Given the description of an element on the screen output the (x, y) to click on. 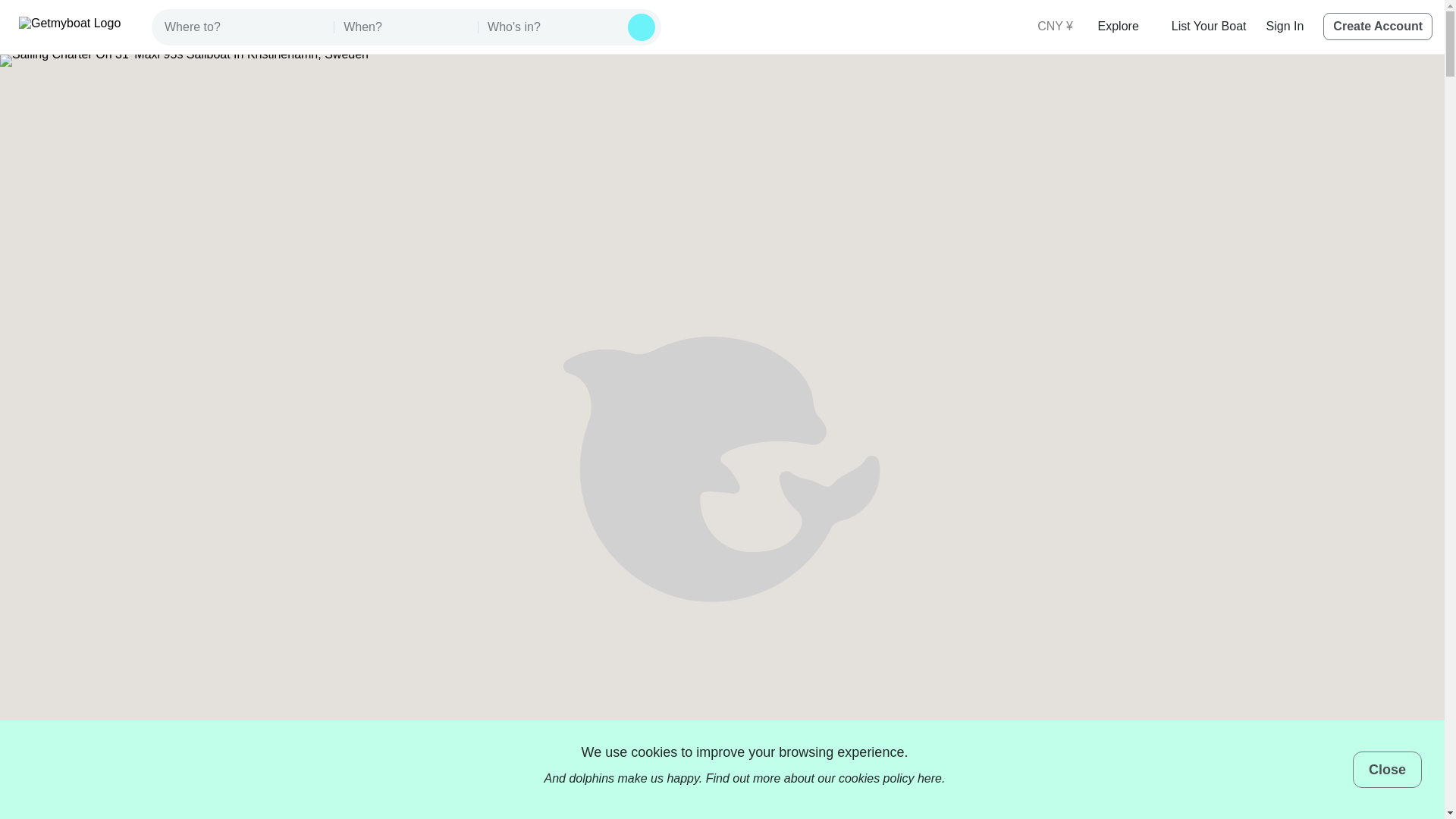
Sign In (1285, 26)
Create Account (1377, 26)
List Your Boat (1209, 26)
Explore (1123, 25)
Close (1387, 769)
Search (641, 26)
cookies policy here (890, 778)
